Given the description of an element on the screen output the (x, y) to click on. 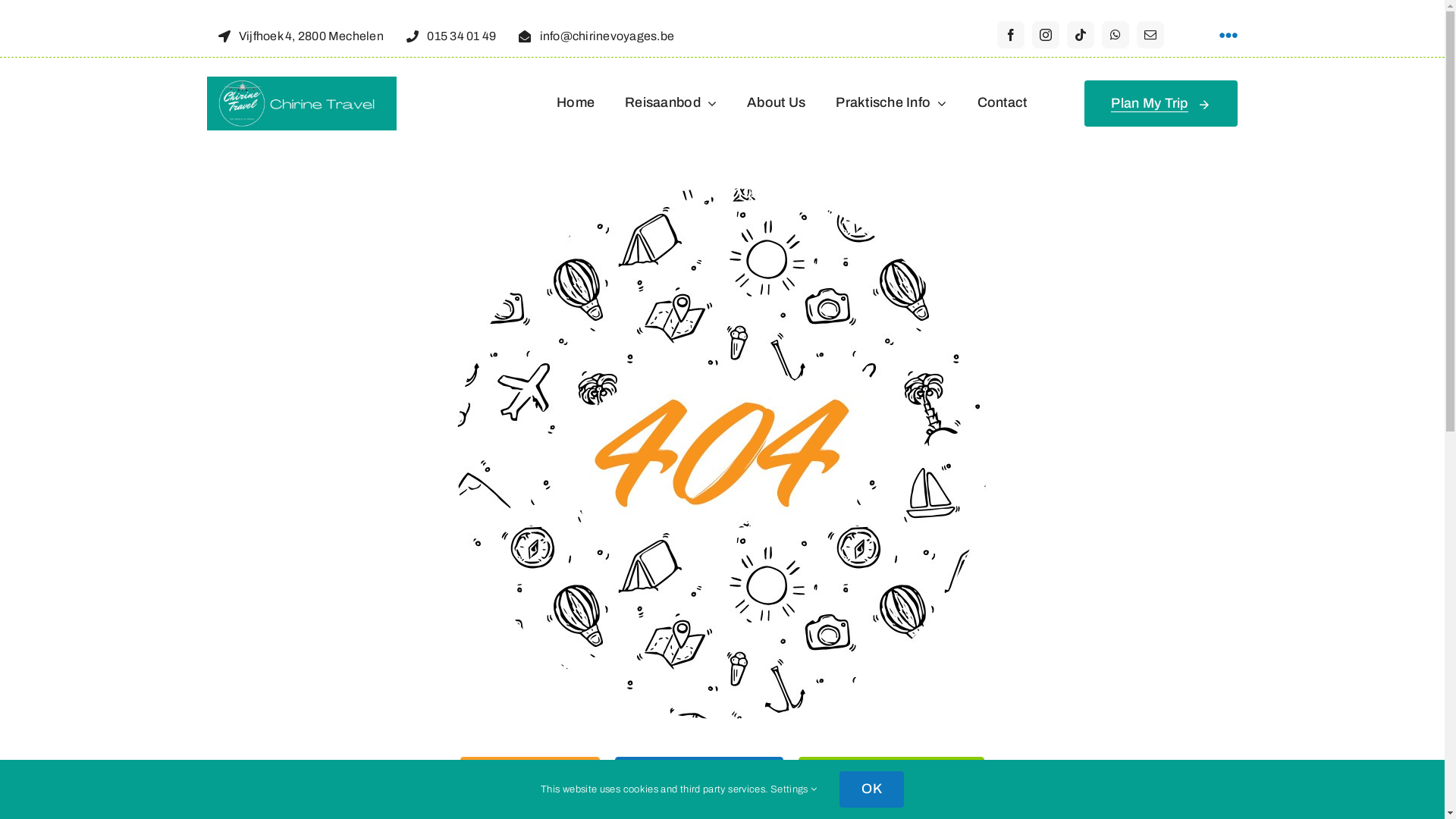
OK Element type: text (871, 789)
About Us Element type: text (775, 103)
Settings Element type: text (793, 789)
info@chirinevoyages.be Element type: text (596, 34)
All Tour Packages Element type: text (890, 779)
Plan My Trip Element type: text (1160, 103)
Praktische Info Element type: text (890, 103)
All Destinations Element type: text (699, 779)
Contact Element type: text (1002, 103)
015 34 01 49 Element type: text (451, 34)
Home Element type: text (575, 103)
Vijfhoek 4, 2800 Mechelen Element type: text (300, 34)
Reisaanbod Element type: text (670, 103)
Homepage Element type: text (529, 779)
